Given the description of an element on the screen output the (x, y) to click on. 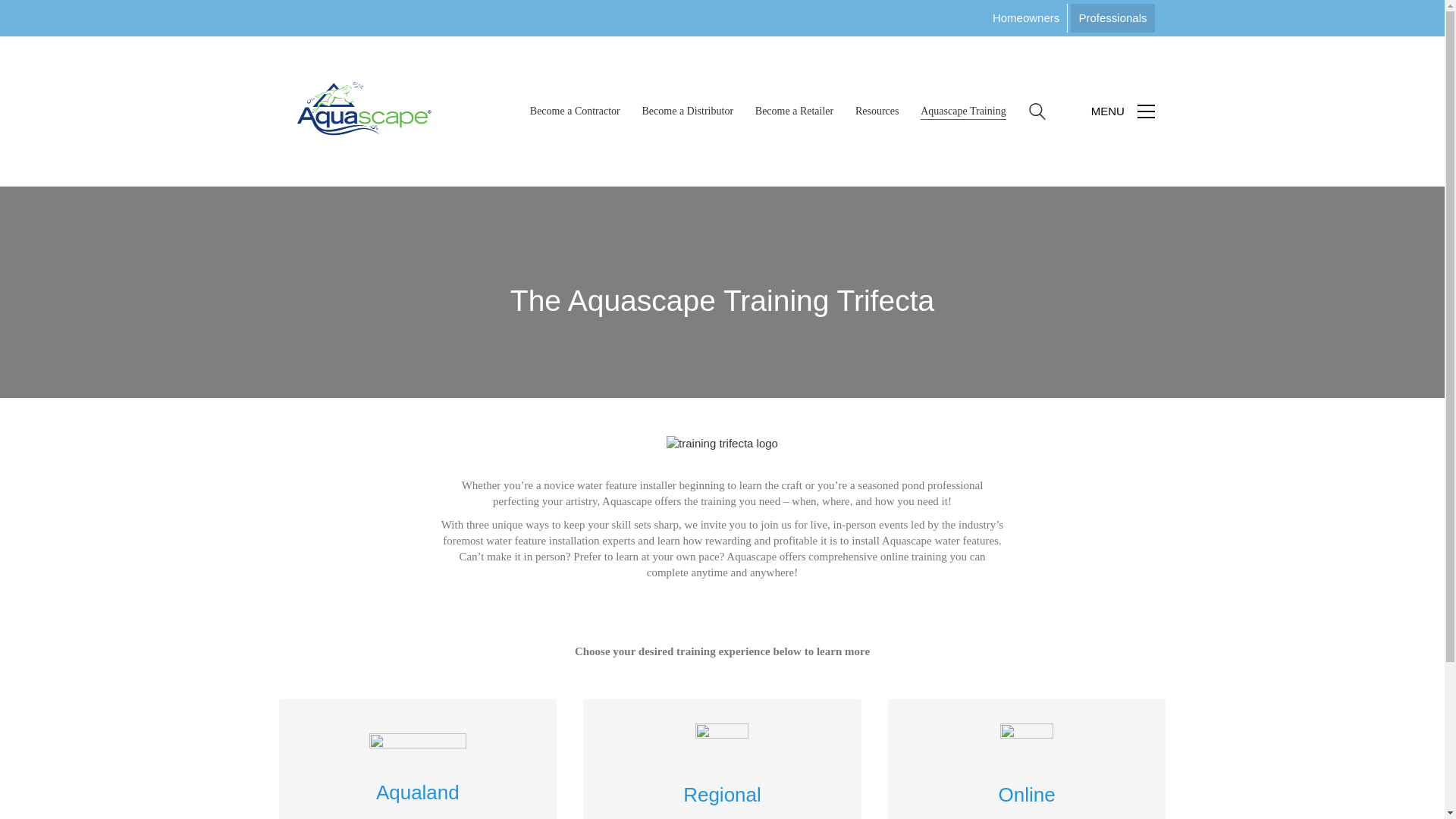
YouTube (1101, 773)
Twitter X (1025, 773)
monitor icon (1026, 749)
Instagram (1063, 773)
Homeowners (1026, 18)
Aqualand icon (417, 751)
training trifecta logo (721, 443)
Become a Distributor (687, 111)
regional icon (721, 749)
Pinterest (1139, 773)
Become a Contractor (574, 111)
Professionals (1112, 18)
Facebook (987, 773)
